Given the description of an element on the screen output the (x, y) to click on. 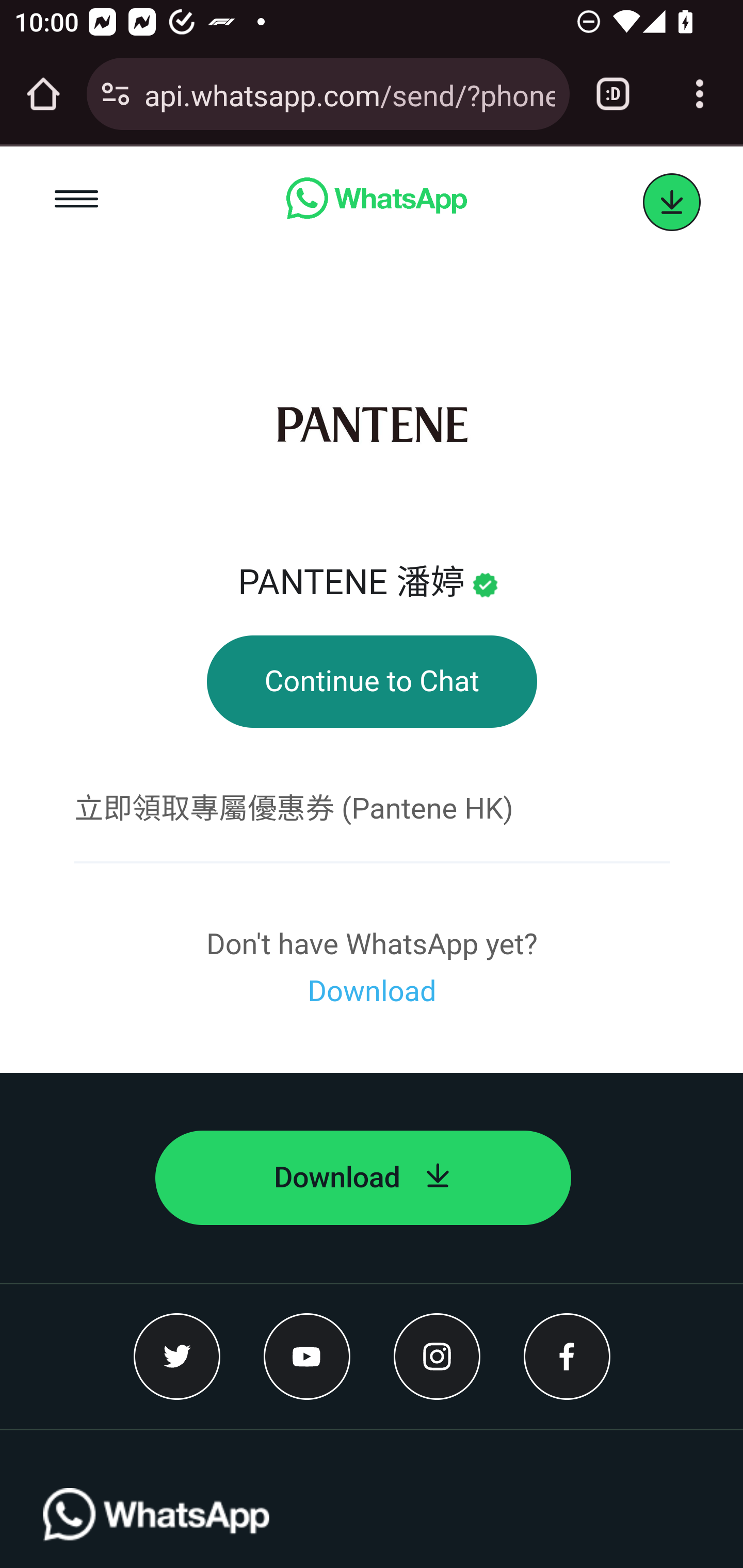
Open the home page (43, 93)
Connection is secure (115, 93)
Switch or close tabs (612, 93)
Customize and control Google Chrome (699, 93)
Open mobile menu (77, 202)
details?id=com (672, 203)
WhatsApp Main Page (376, 202)
Continue to Chat (371, 682)
Download Download Download (371, 991)
Download (363, 1178)
Twitter (177, 1356)
Youtube (307, 1356)
Instagram (436, 1356)
Facebook (566, 1356)
WhatsApp Main Logo (157, 1528)
